Given the description of an element on the screen output the (x, y) to click on. 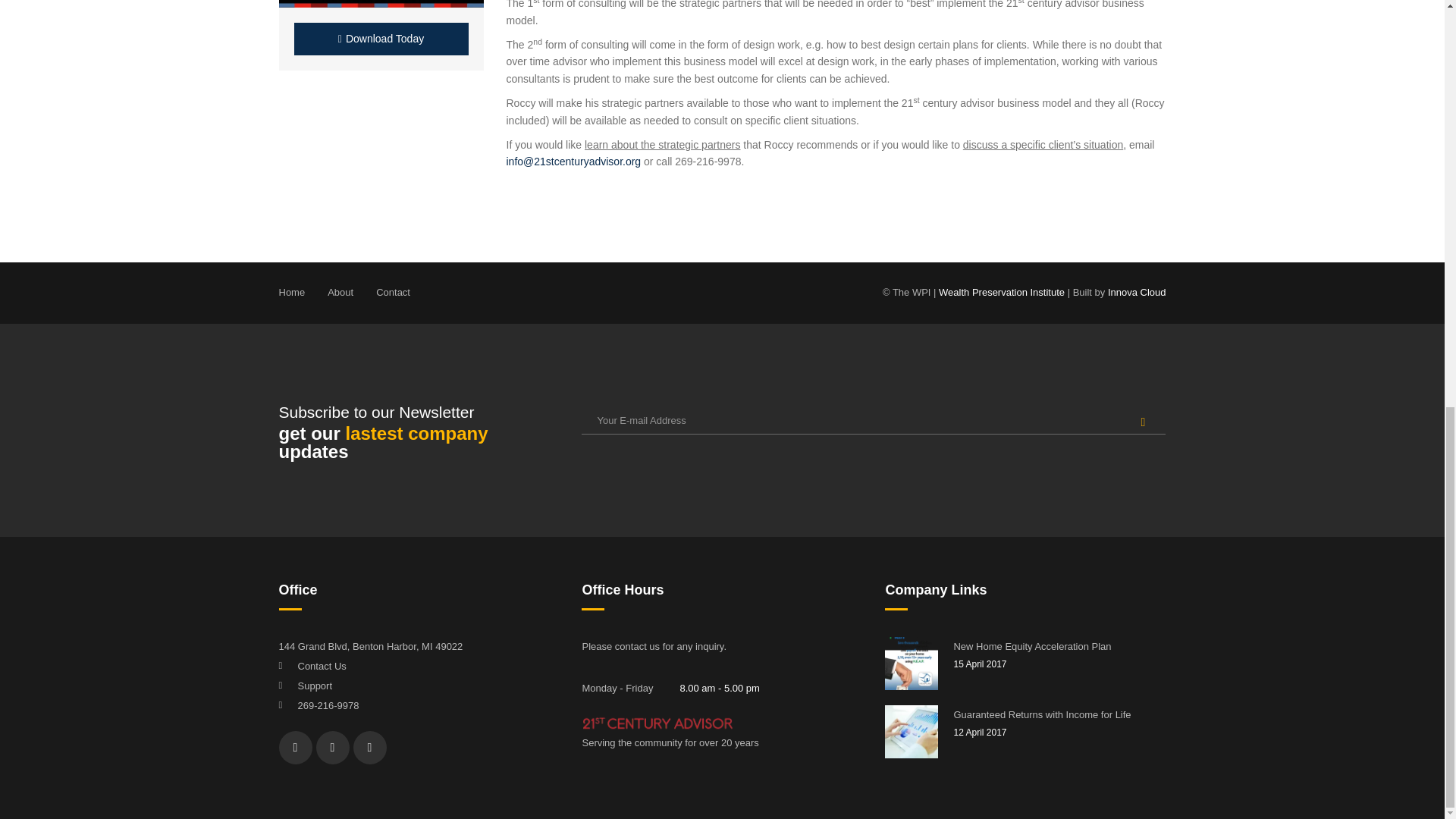
New Home Equity Acceleration Plan (1059, 646)
Guaranteed Returns with Income for Life (1059, 714)
Innova Cloud (1137, 292)
Support (314, 685)
Wealth Preservation Institute (1000, 292)
Home (292, 292)
New Home Equity Acceleration Plan (1059, 646)
Subscribe (1141, 422)
269-216-9978 (327, 705)
About (340, 292)
Guaranteed Returns with Income for Life (1059, 714)
Download Today (381, 38)
Contact (392, 292)
New Home Equity Acceleration Plan (911, 663)
Contact Us (321, 665)
